Given the description of an element on the screen output the (x, y) to click on. 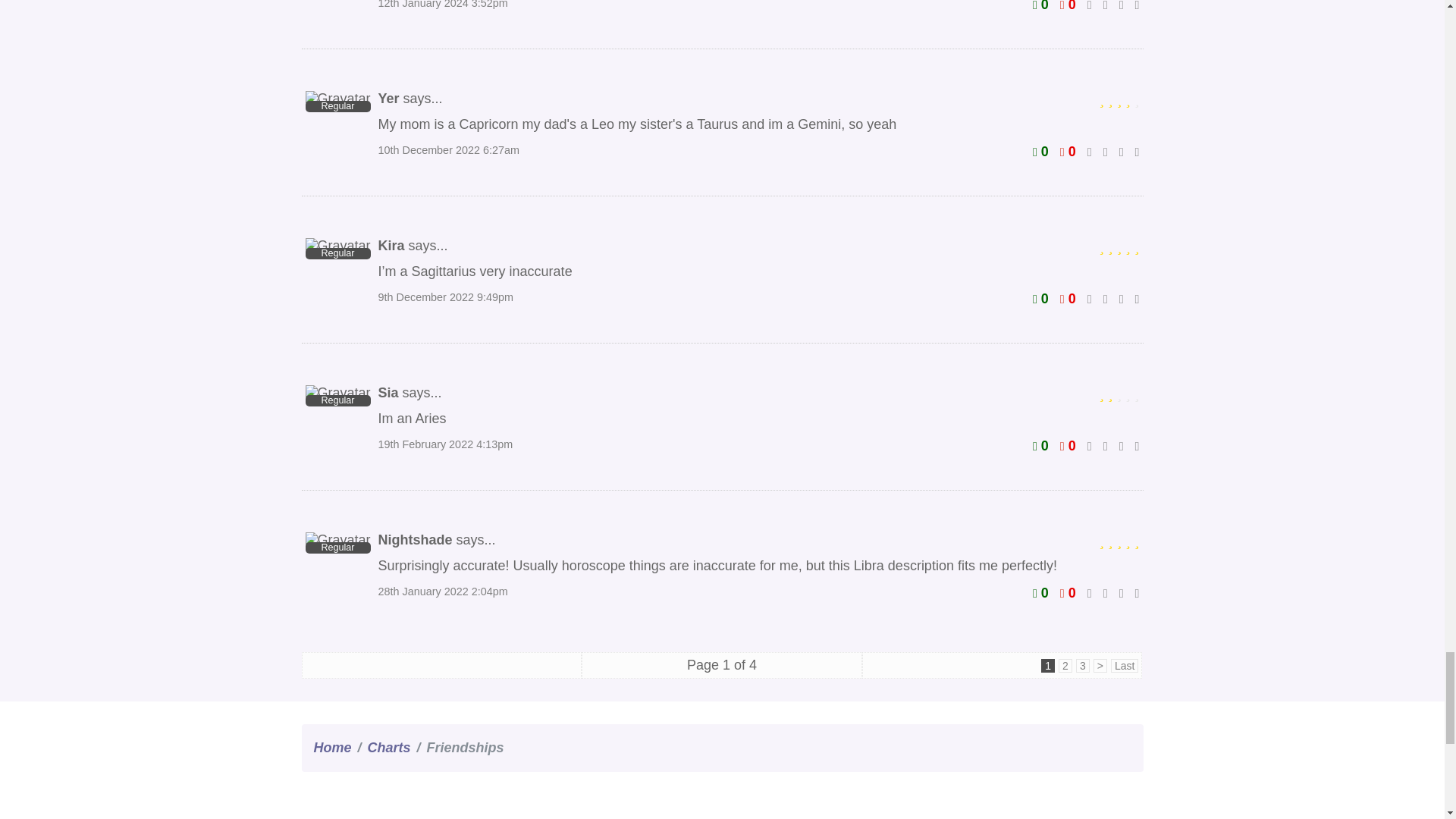
0 (1067, 6)
0 (1040, 6)
